Given the description of an element on the screen output the (x, y) to click on. 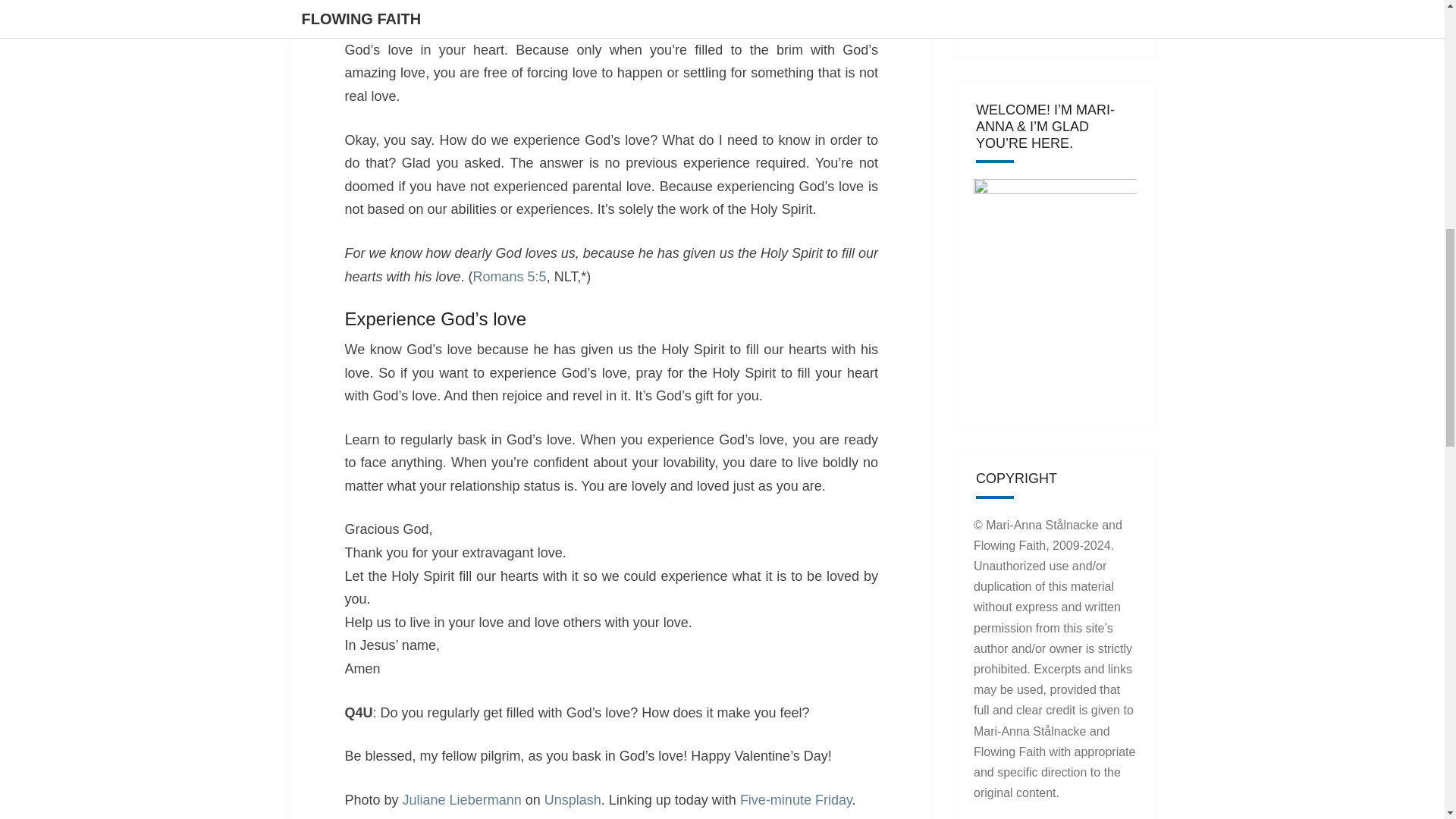
Unsplash (572, 799)
Five-minute Friday (795, 799)
Support (1006, 15)
Juliane Liebermann (462, 799)
Romans 5:5 (510, 276)
